Given the description of an element on the screen output the (x, y) to click on. 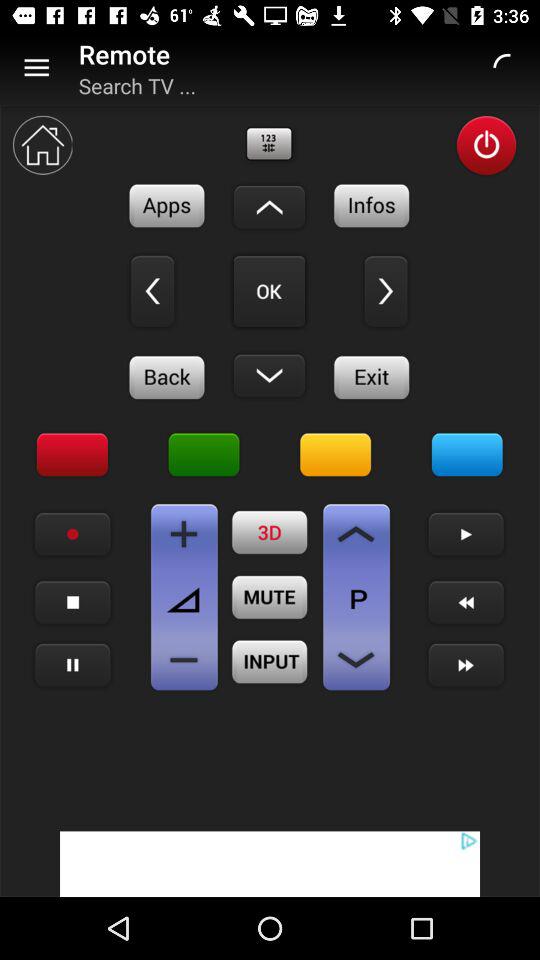
info button (371, 205)
